Given the description of an element on the screen output the (x, y) to click on. 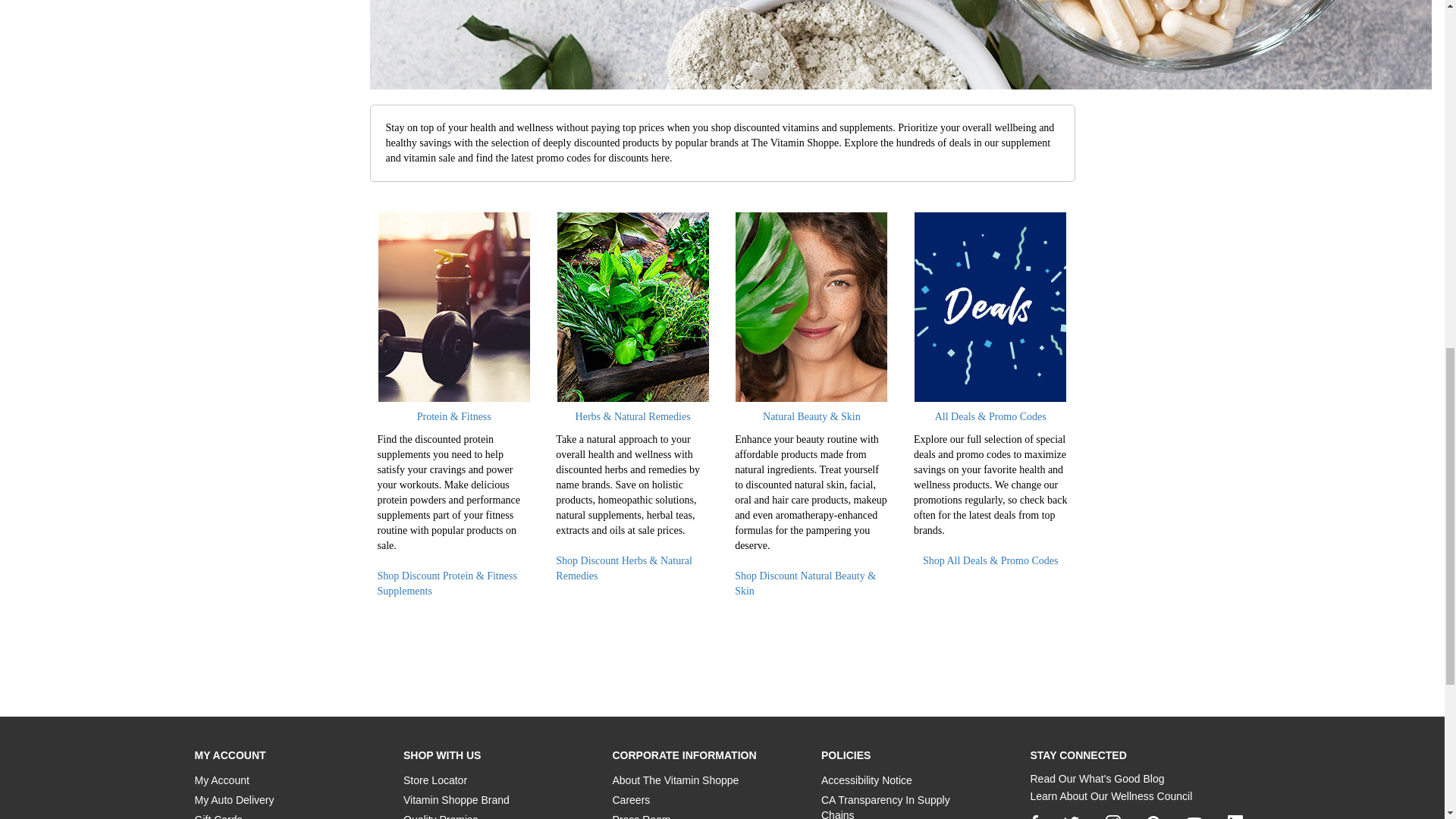
Pinterest (1153, 817)
Instagram (1113, 816)
Twitter (1071, 817)
LinkedIn (1235, 816)
